Given the description of an element on the screen output the (x, y) to click on. 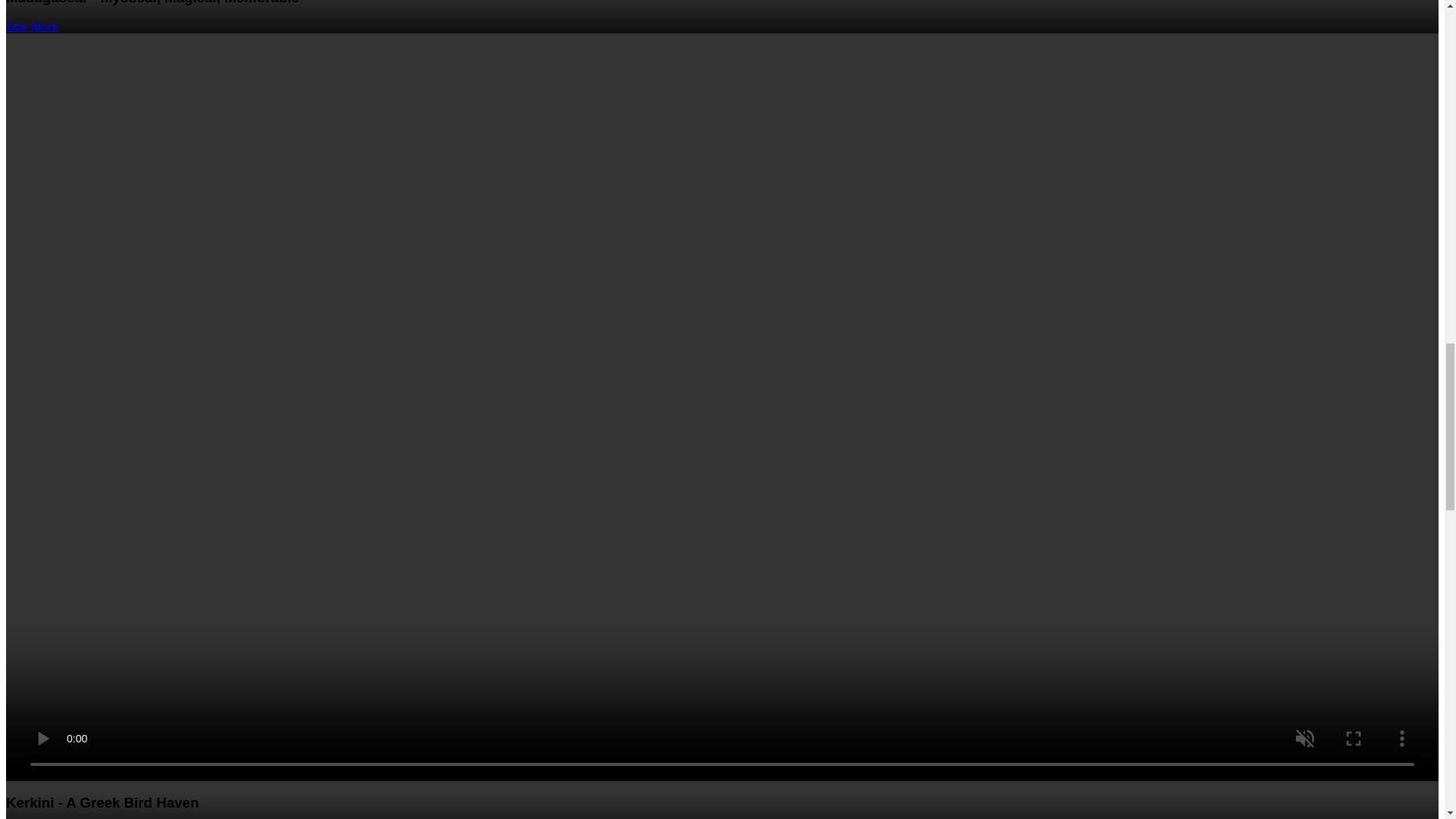
See More (31, 25)
